Given the description of an element on the screen output the (x, y) to click on. 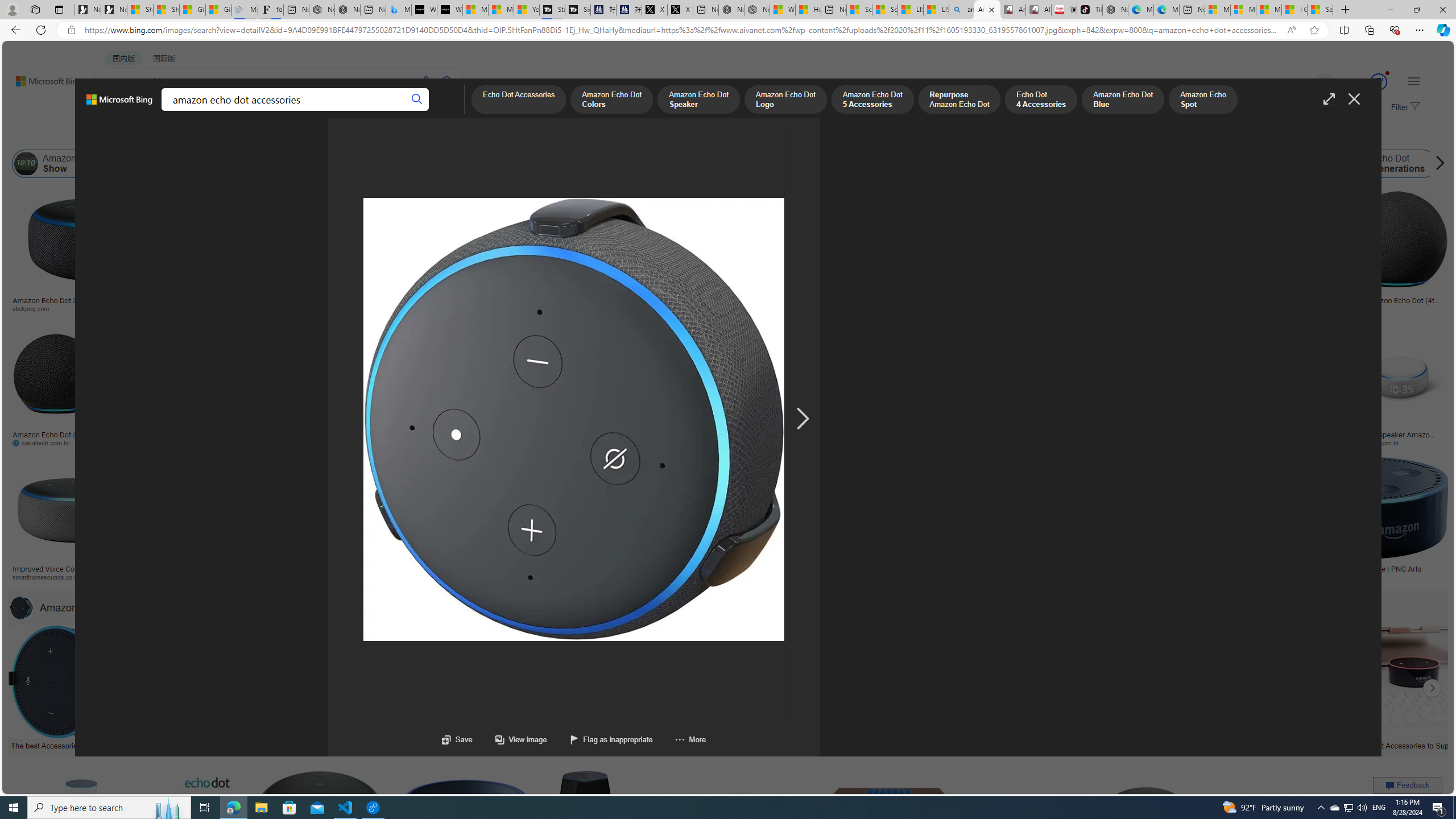
Amazon Echo Dot Blue (1122, 100)
croma.com (503, 442)
Class: outer-circle-animation (1378, 81)
FrAndroid (455, 308)
winmaec.com (1128, 442)
Best Amazon Echo Accessories - Tech Advisor (304, 744)
Layout (253, 135)
Amazon Echo Dot 5 Accessories (872, 100)
